Given the description of an element on the screen output the (x, y) to click on. 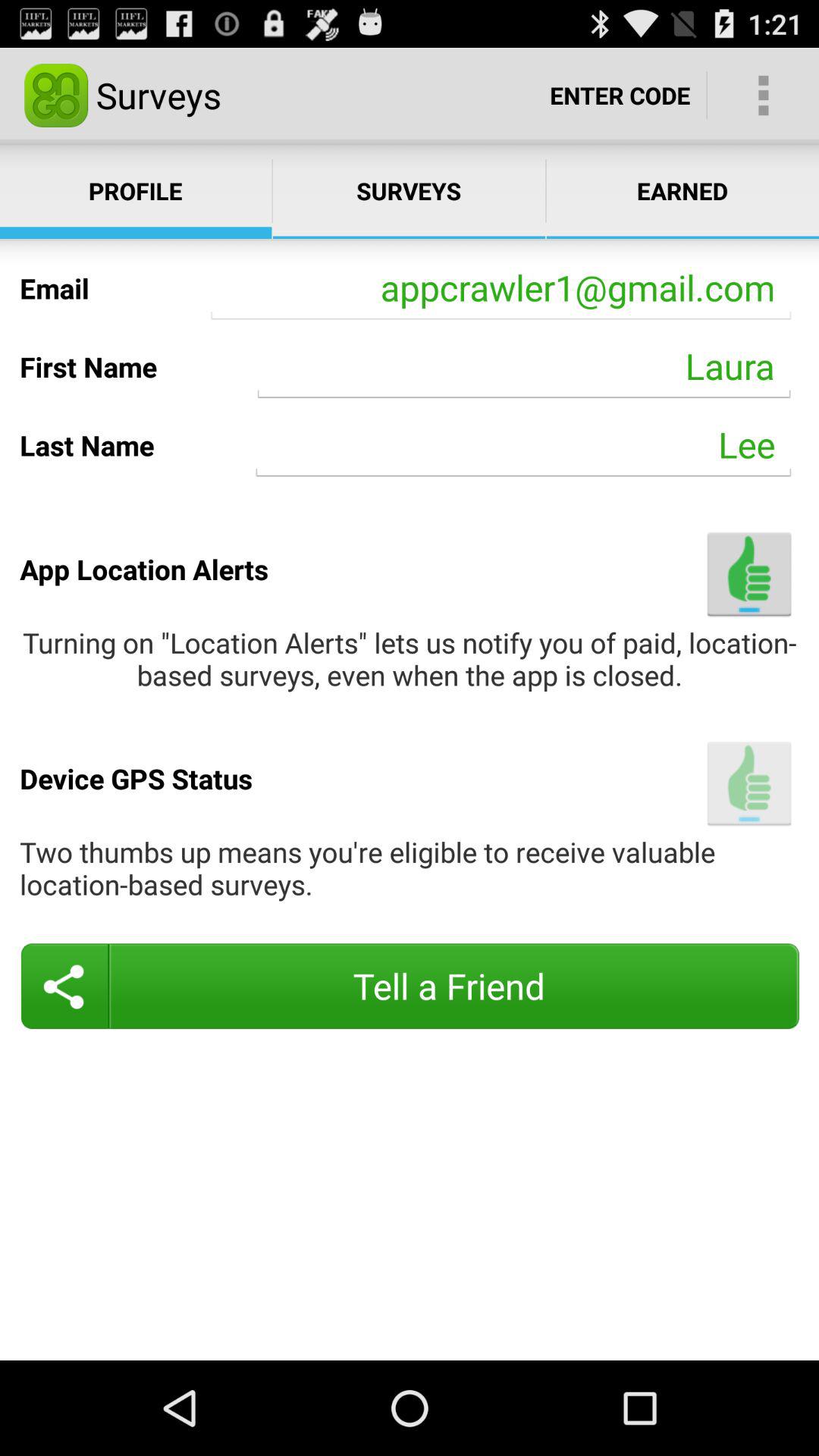
turn off the item to the right of app location alerts (749, 573)
